Given the description of an element on the screen output the (x, y) to click on. 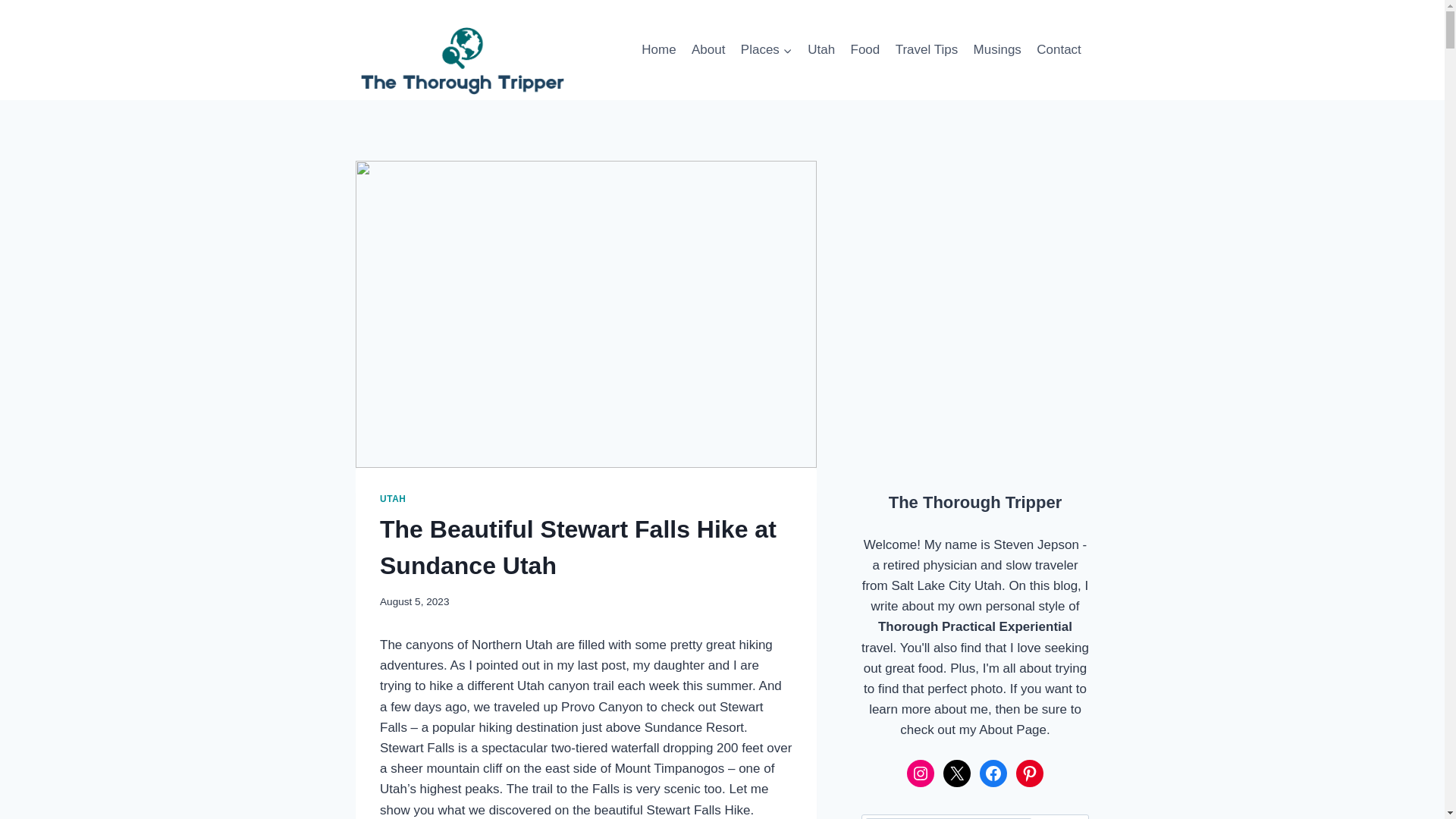
About (708, 49)
Utah (821, 49)
Places (766, 49)
Contact (1059, 49)
UTAH (393, 498)
Food (864, 49)
Home (658, 49)
Travel Tips (925, 49)
Musings (997, 49)
